Given the description of an element on the screen output the (x, y) to click on. 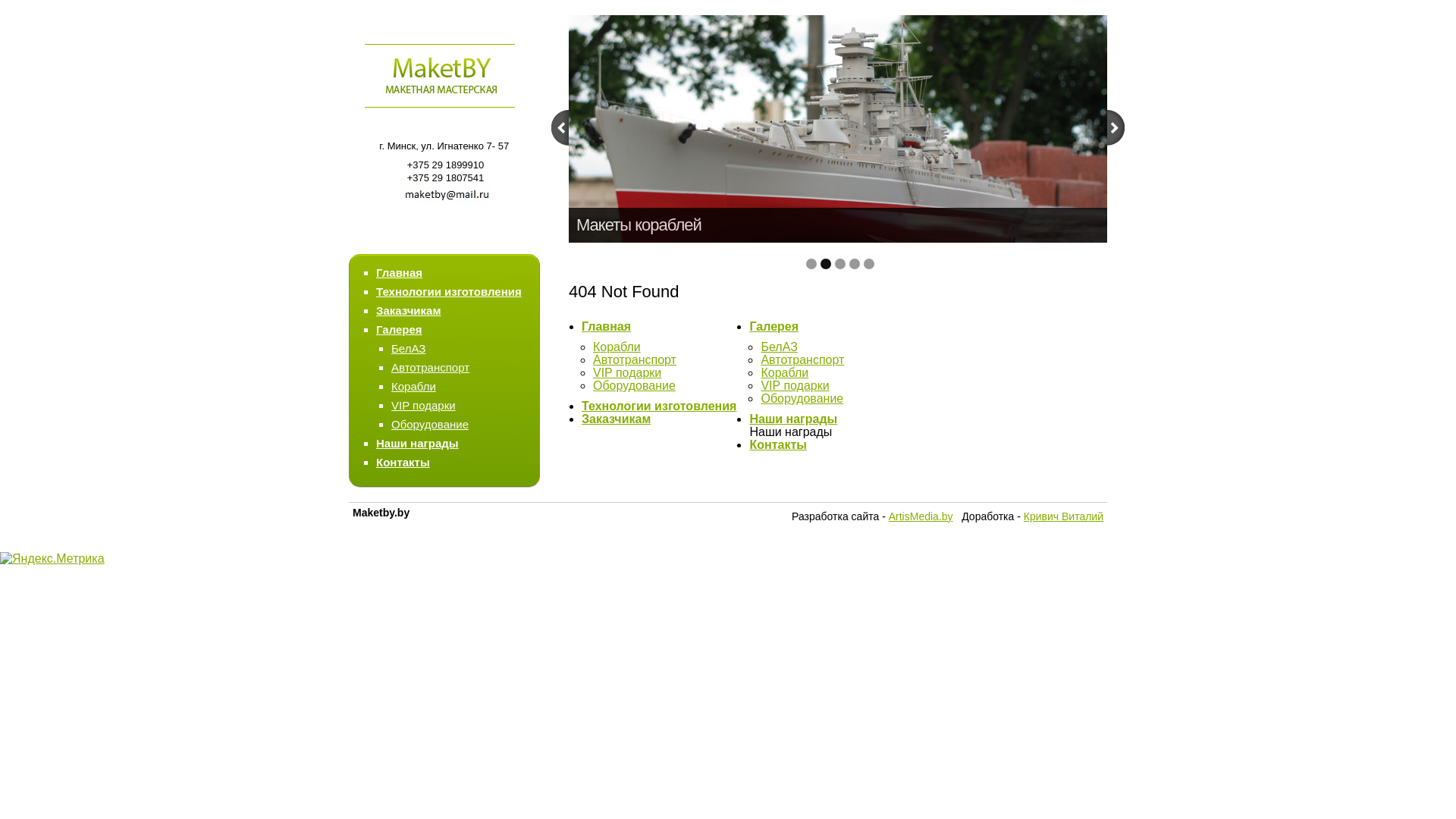
prev Element type: text (559, 127)
ArtisMedia.by Element type: text (920, 516)
next Element type: text (1115, 127)
